Given the description of an element on the screen output the (x, y) to click on. 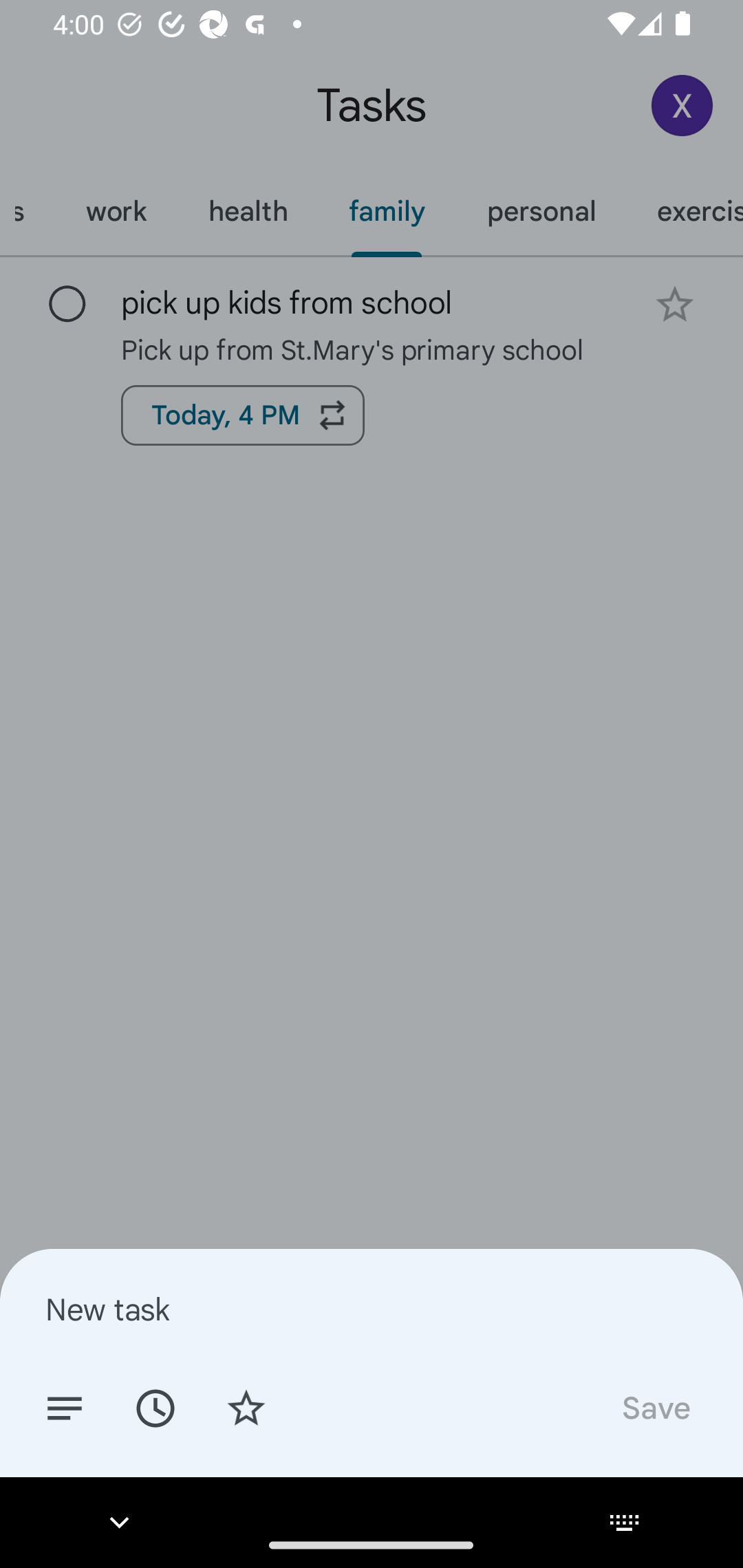
New task (371, 1308)
Save (655, 1407)
Add details (64, 1407)
Set date/time (154, 1407)
Add star (245, 1407)
